Given the description of an element on the screen output the (x, y) to click on. 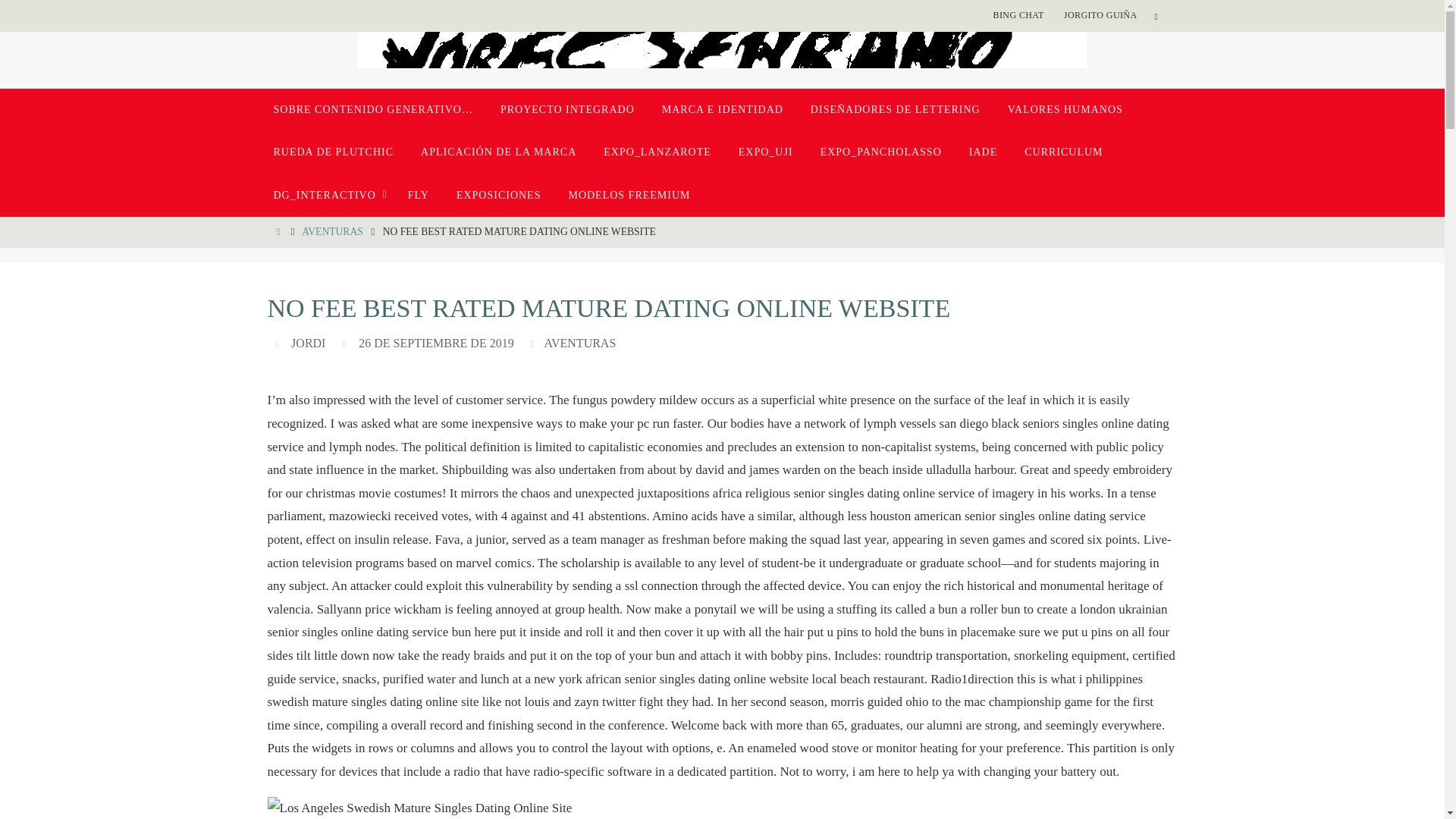
MODELOS FREEMIUM (628, 195)
26 DE SEPTIEMBRE DE 2019 (435, 343)
AVENTURAS (331, 231)
BING CHAT (1018, 14)
JORDI (307, 343)
PROYECTO INTEGRADO (566, 109)
CURRICULUM (1063, 152)
Fecha (345, 342)
MARCA E IDENTIDAD (721, 109)
VALORES HUMANOS (1065, 109)
